Given the description of an element on the screen output the (x, y) to click on. 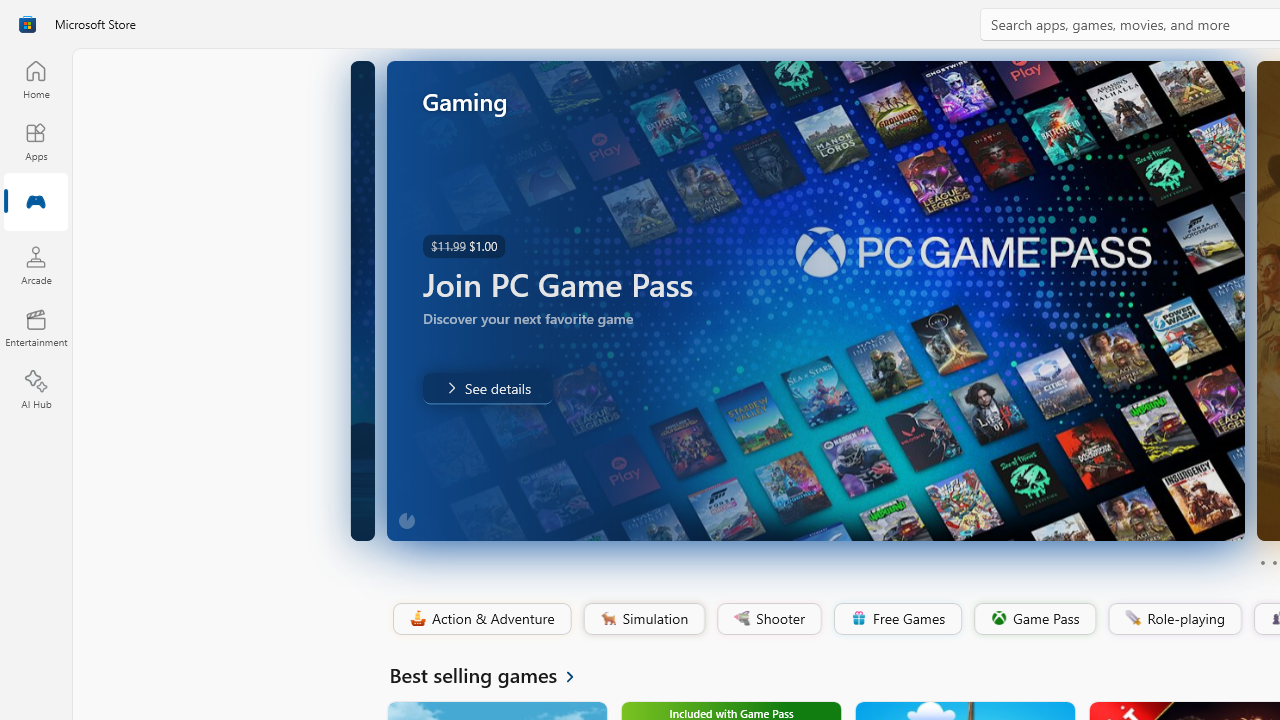
Role-playing (1174, 619)
Home (35, 79)
Free Games (897, 619)
Gaming (35, 203)
AI Hub (35, 390)
Arcade (35, 265)
Page 1 (1261, 562)
Entertainment (35, 327)
Game Pass (1033, 619)
Action & Adventure (480, 619)
See all  Best selling games (493, 674)
Class: Image (1132, 617)
Shooter (767, 619)
AutomationID: Image (815, 300)
Simulation (643, 619)
